Given the description of an element on the screen output the (x, y) to click on. 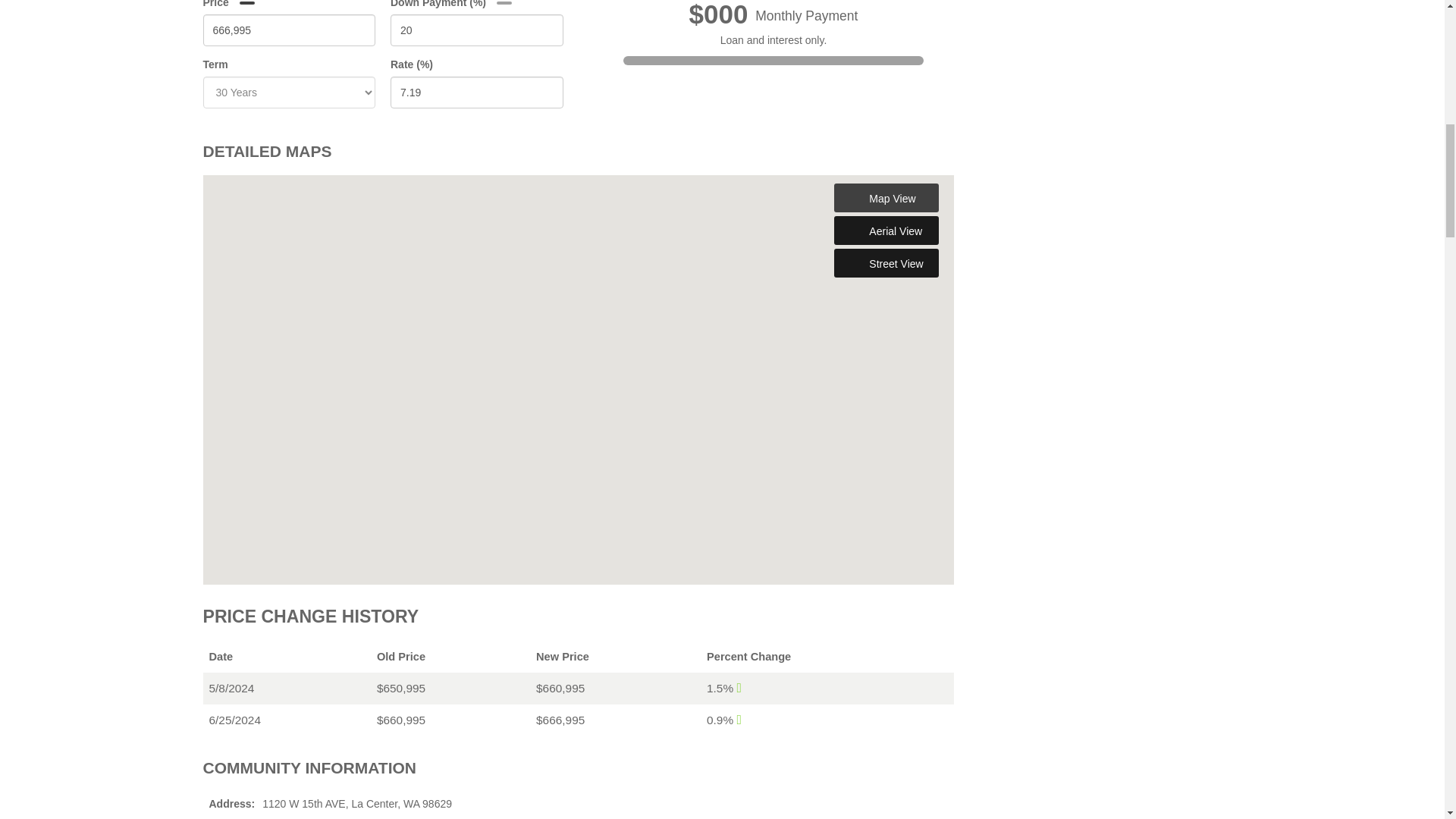
20 (289, 29)
7.19 (476, 29)
